Given the description of an element on the screen output the (x, y) to click on. 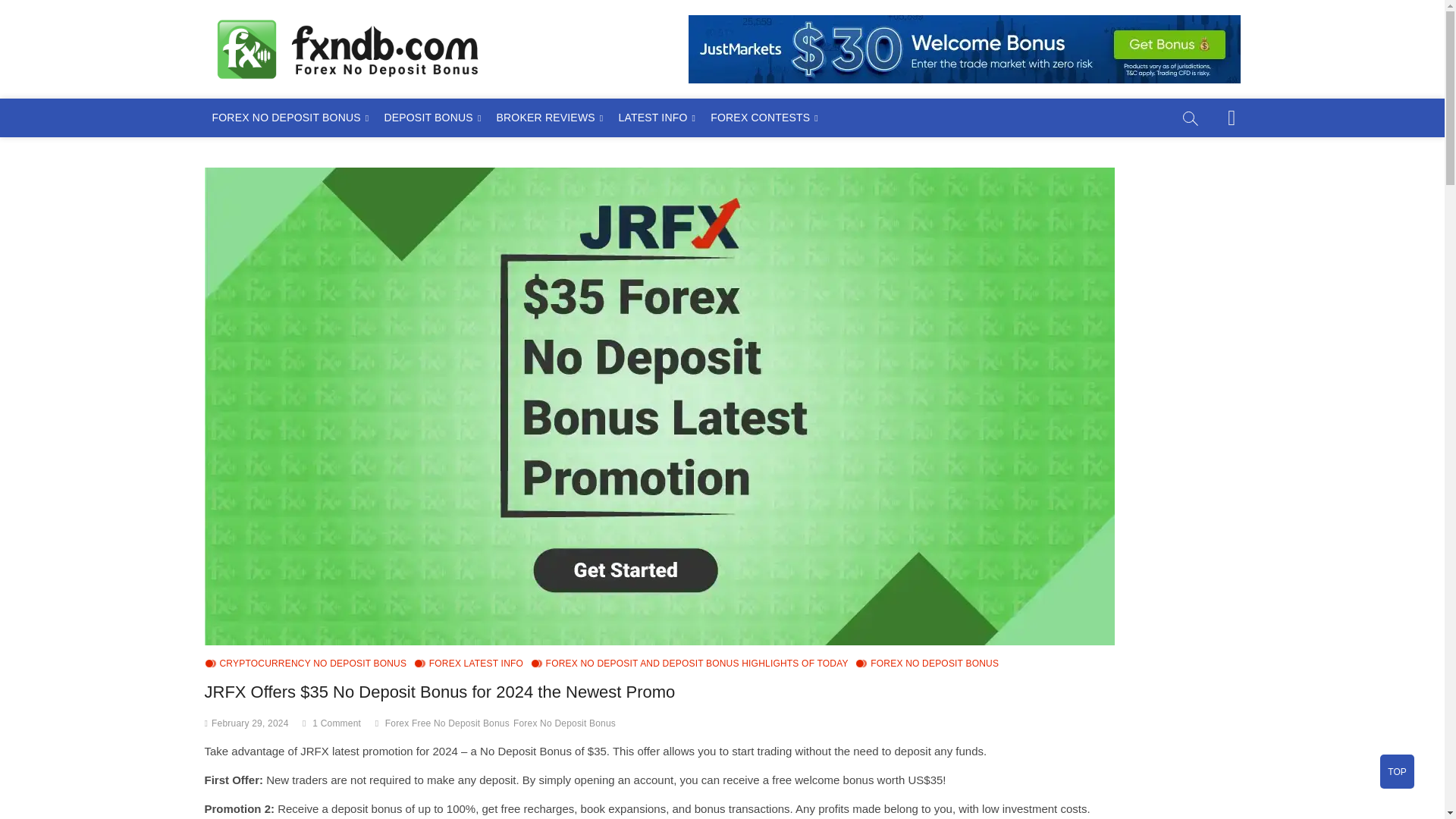
Menu Button (1231, 118)
BROKER REVIEWS (548, 117)
LATEST INFO (656, 117)
Forex No Deposit and Deposit Bonus The Most Rewarding Offer (862, 59)
FOREX CONTESTS (764, 117)
FOREX NO DEPOSIT BONUS (291, 117)
Forex No Deposit and Deposit Bonus The Most Rewarding Offer (862, 59)
DEPOSIT BONUS (431, 117)
